Given the description of an element on the screen output the (x, y) to click on. 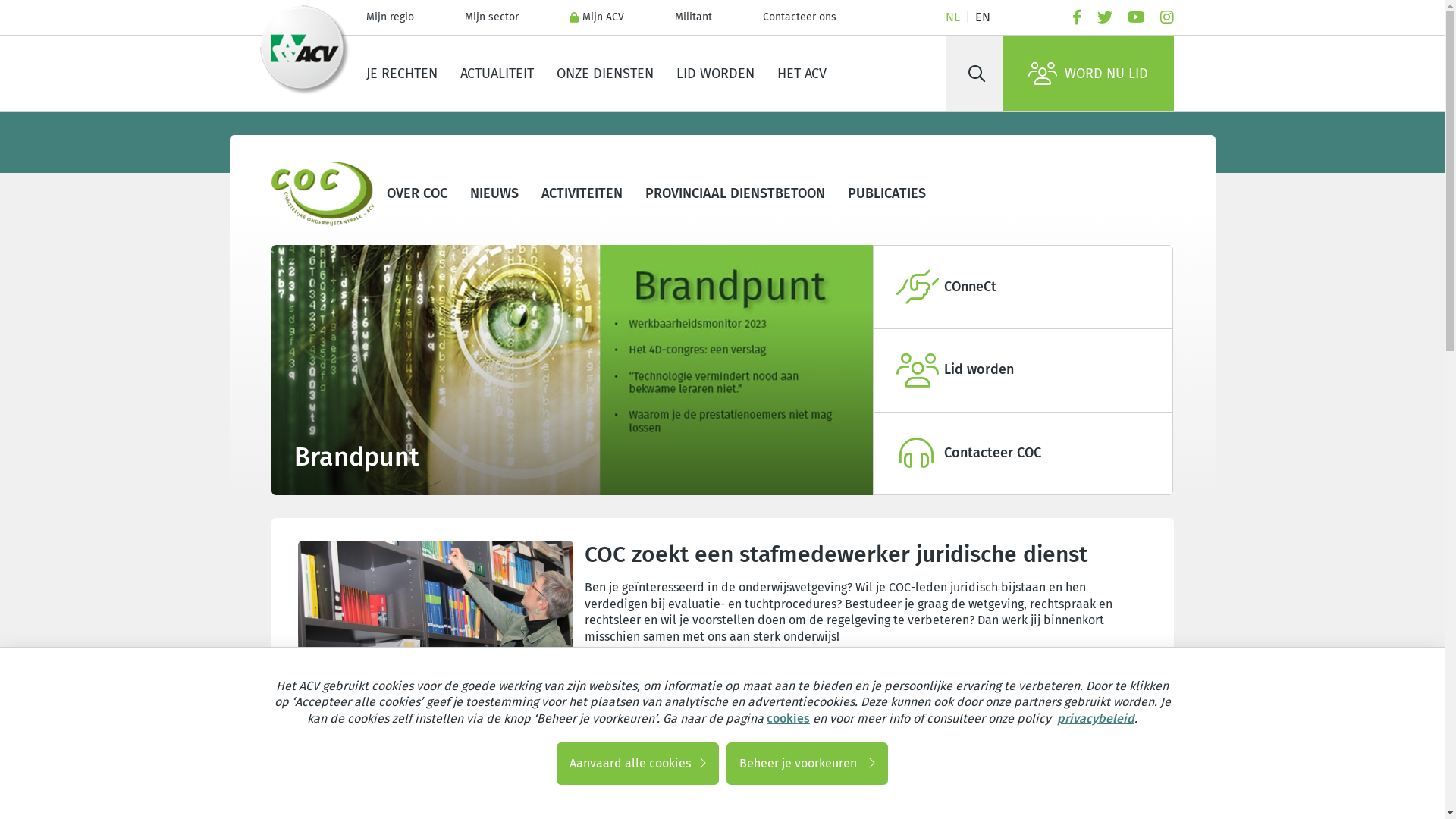
ONZE DIENSTEN Element type: text (604, 73)
WORD NU LID Element type: text (1087, 73)
Mijn ACV Element type: text (595, 17)
PUBLICATIES Element type: text (886, 193)
OVER COC Element type: text (416, 193)
HET ACV Element type: text (801, 73)
NIEUWS Element type: text (494, 193)
Mijn sector Element type: text (490, 17)
ACTIVITEITEN Element type: text (581, 193)
vacature Element type: hover (434, 622)
Brandpunt Element type: text (571, 369)
 privacybeleid Element type: text (1094, 718)
NL Element type: text (951, 17)
ACV-CSC Element type: hover (304, 50)
PROVINCIAAL DIENSTBETOON Element type: text (734, 193)
Militant Element type: text (693, 17)
cookies Element type: text (787, 718)
LID WORDEN Element type: text (714, 73)
Aanvaard alle cookies Element type: text (637, 763)
Mijn regio Element type: text (388, 17)
JE RECHTEN Element type: text (401, 73)
COnneCt Element type: text (1023, 286)
ACTUALITEIT Element type: text (496, 73)
Contacteer COC Element type: text (1023, 452)
EN Element type: text (982, 17)
Lid worden Element type: text (1023, 369)
Beheer je voorkeuren Element type: text (807, 763)
Contacteer ons Element type: text (799, 17)
